Given the description of an element on the screen output the (x, y) to click on. 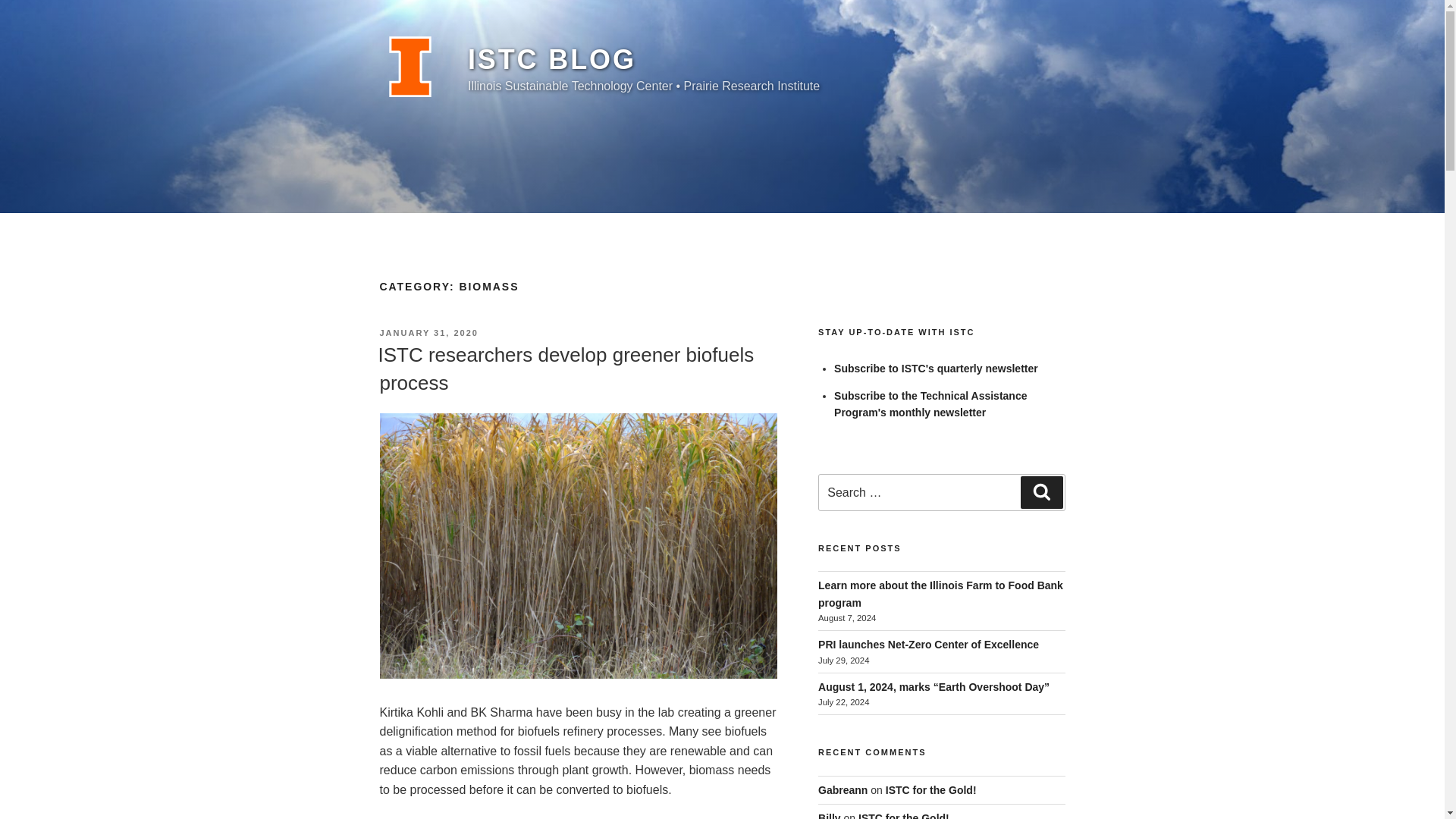
ISTC researchers develop greener biofuels process (565, 368)
Search (1041, 491)
ISTC for the Gold! (904, 815)
Gabreann (842, 789)
Learn more about the Illinois Farm to Food Bank program (940, 593)
ISTC BLOG (551, 59)
ISTC for the Gold! (930, 789)
Subscribe to ISTC's quarterly newsletter (936, 368)
JANUARY 31, 2020 (427, 332)
